Given the description of an element on the screen output the (x, y) to click on. 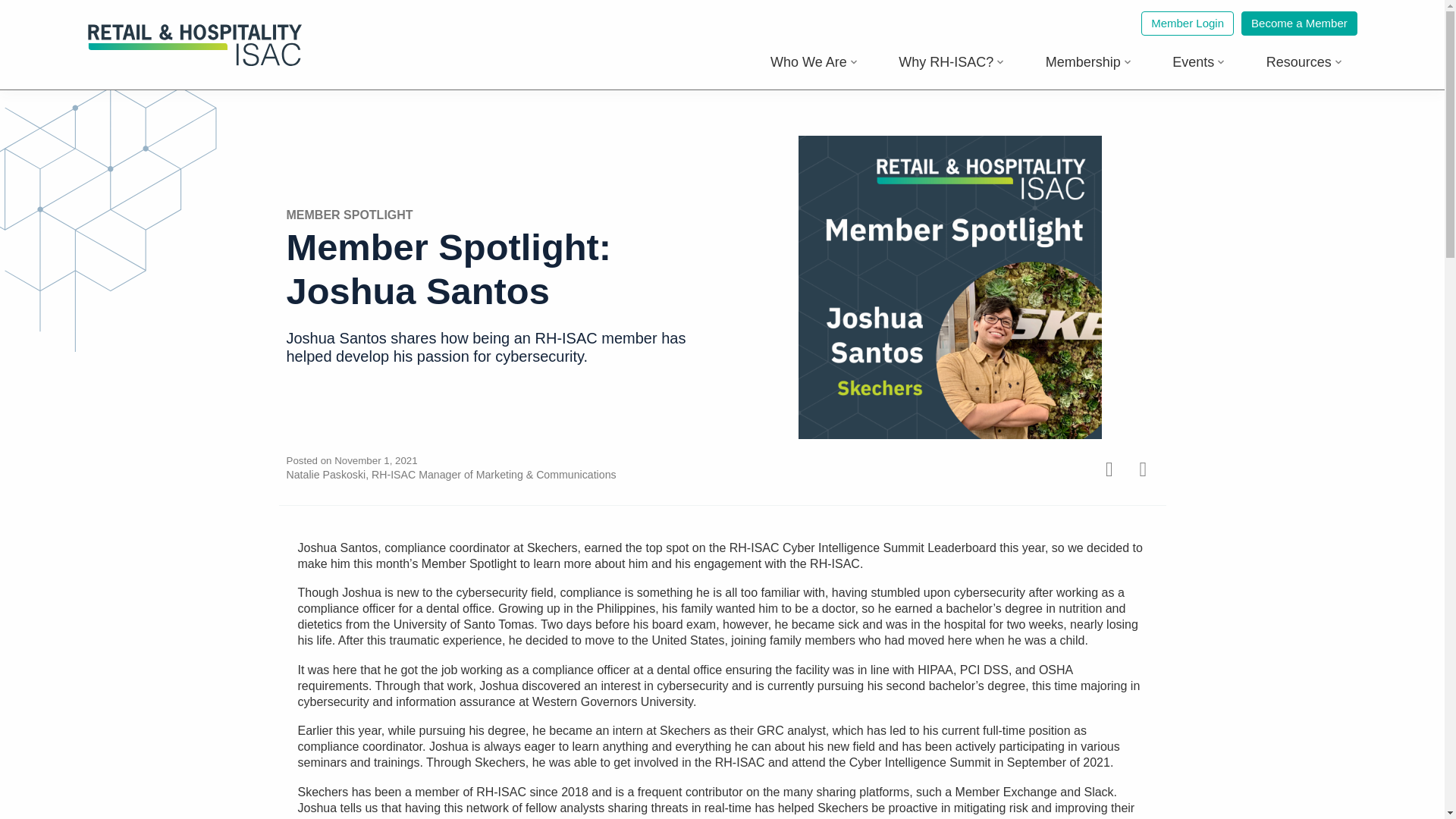
Become a Member (1298, 23)
Resources (1303, 62)
Who We Are (814, 62)
Membership (1088, 62)
Why RH-ISAC? (951, 62)
Member Login (1187, 23)
RH-ISAC (194, 62)
MEMBER SPOTLIGHT (349, 214)
Events (1198, 62)
